Given the description of an element on the screen output the (x, y) to click on. 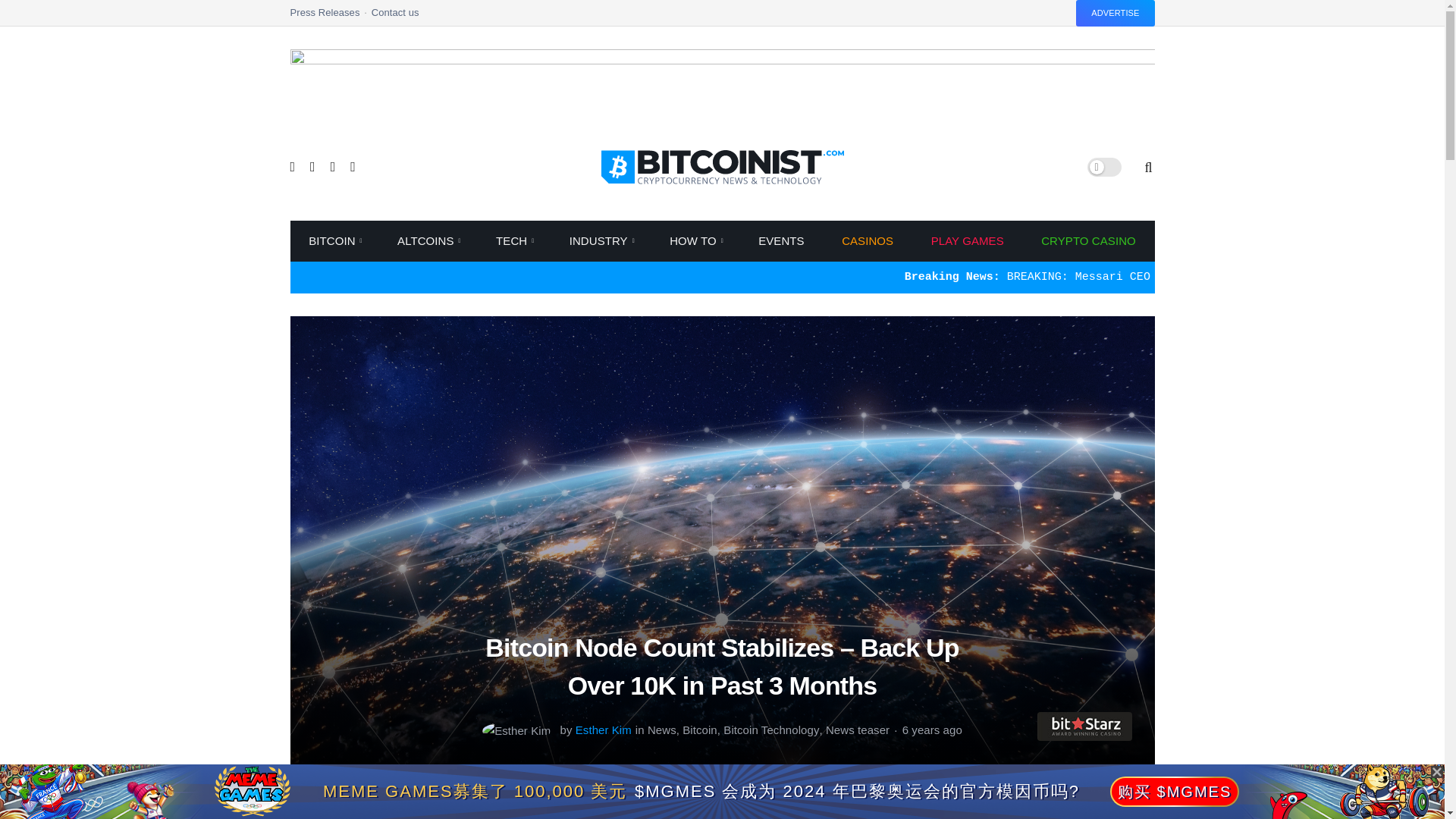
Press Releases (330, 17)
BITCOIN (333, 240)
ADVERTISE (1114, 13)
Contact us (395, 17)
ALTCOINS (427, 240)
TECH (513, 240)
